Given the description of an element on the screen output the (x, y) to click on. 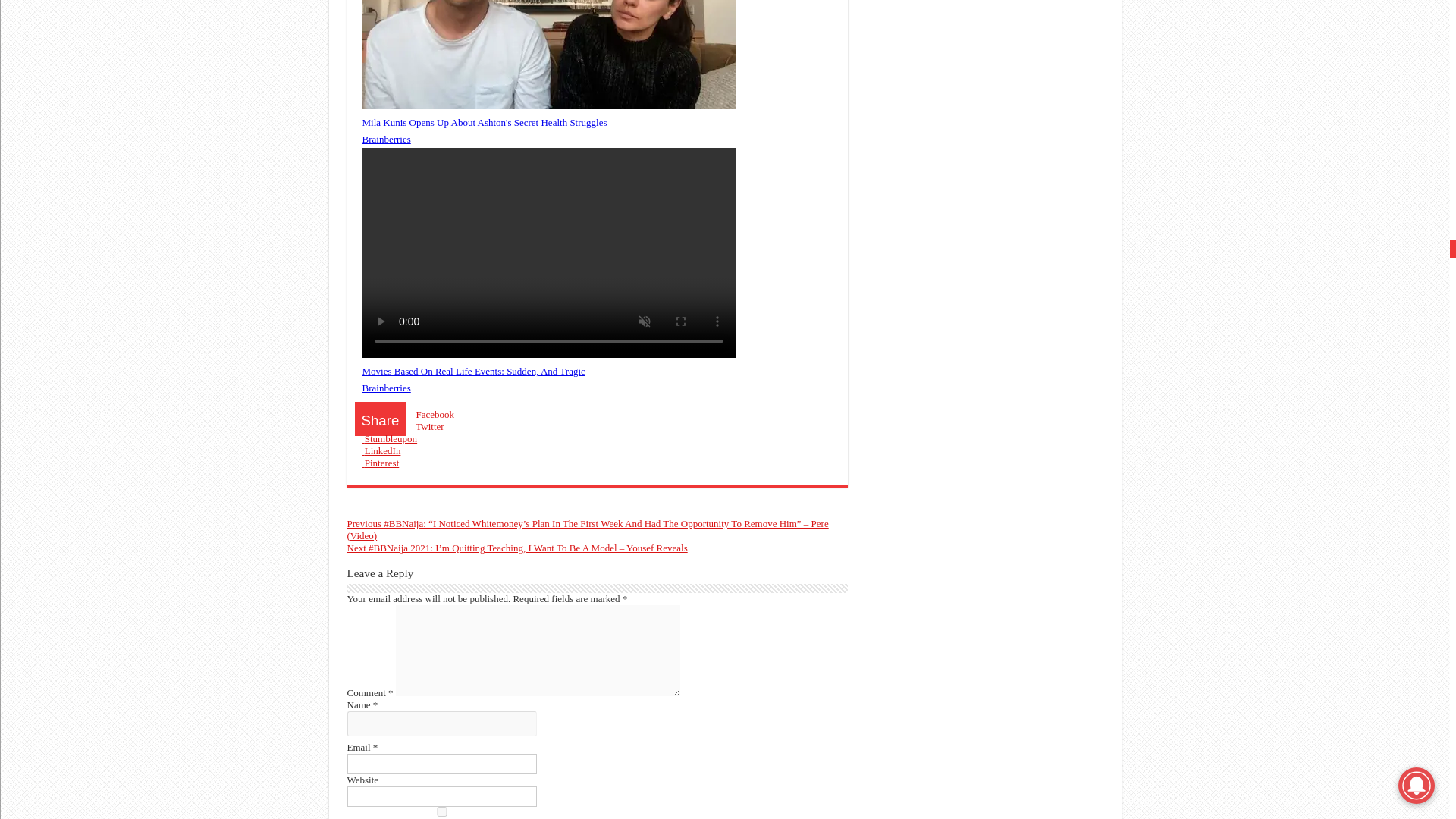
yes (442, 811)
